Given the description of an element on the screen output the (x, y) to click on. 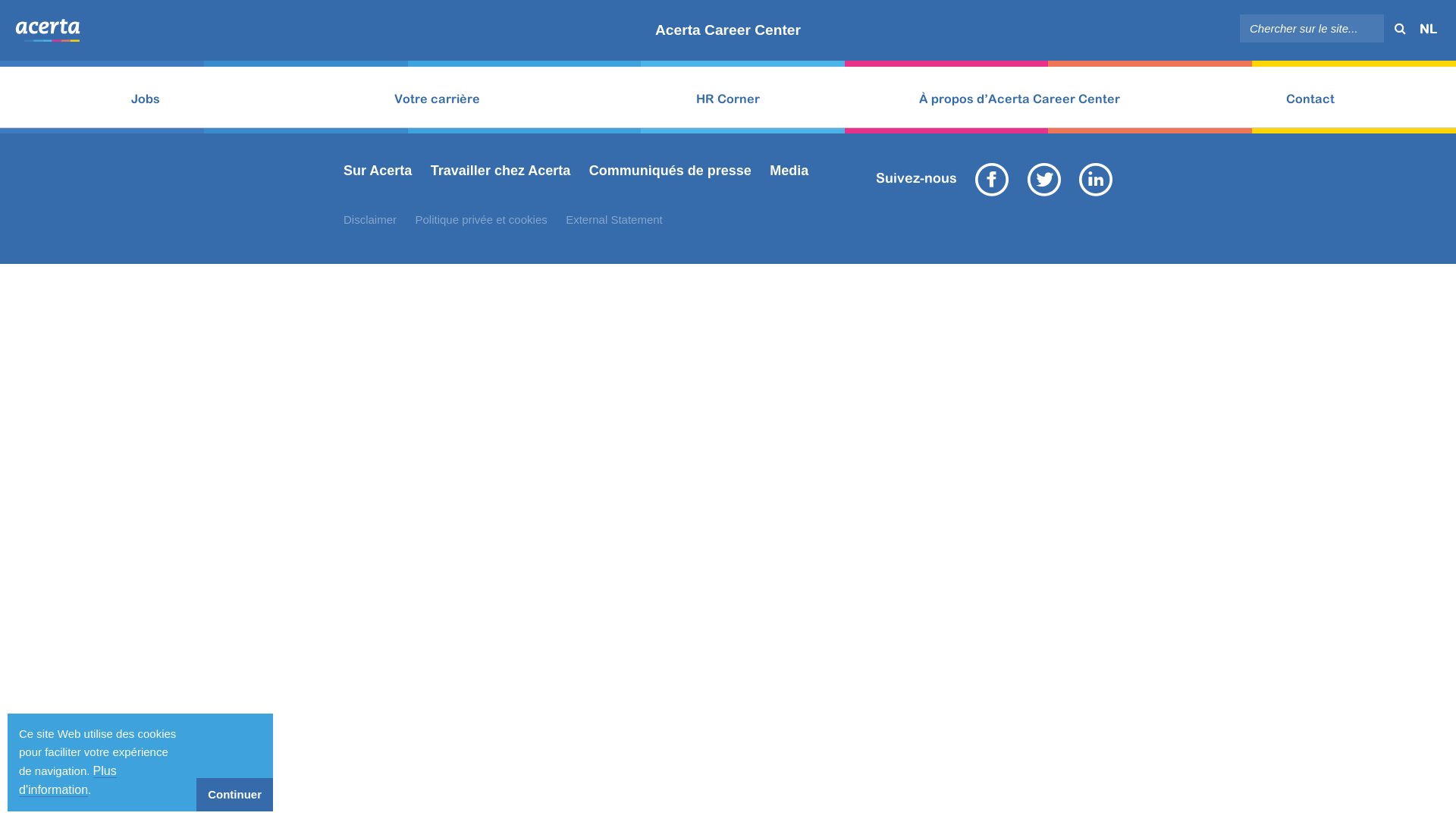
Acerta FR Element type: hover (47, 28)
Travailler chez Acerta Element type: text (500, 170)
Home Element type: text (323, 15)
Disclaimer Element type: text (369, 219)
Media Element type: text (788, 170)
Sur Acerta Element type: text (377, 170)
Continuer Element type: text (234, 794)
External Statement Element type: text (613, 219)
HR Corner Element type: text (727, 96)
Jobs Element type: text (391, 15)
Jobs Element type: text (145, 96)
Plus d'information Element type: text (67, 780)
